Given the description of an element on the screen output the (x, y) to click on. 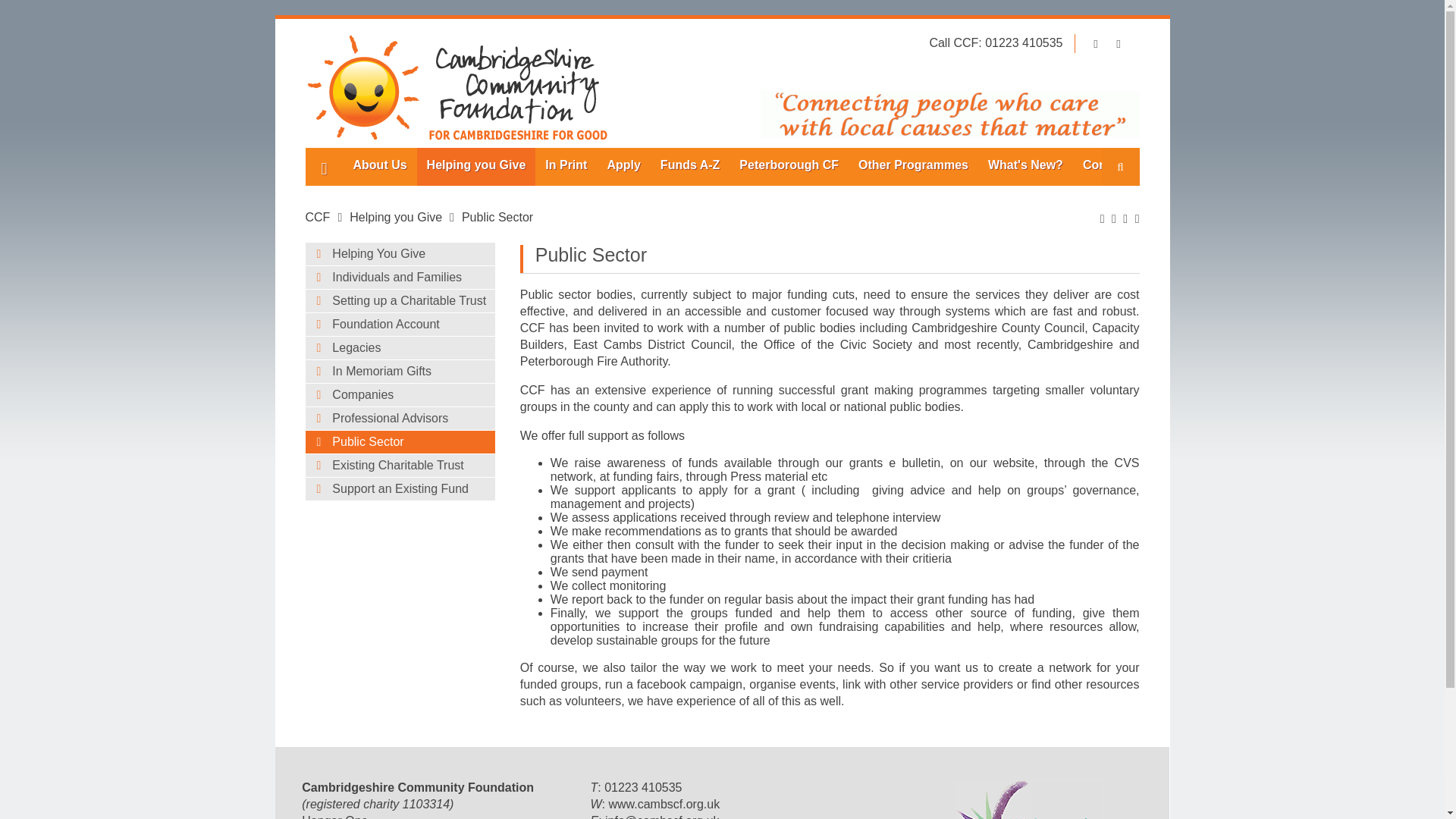
Share on Facebook (1124, 218)
Apply (622, 166)
Helping You Give (399, 253)
Search (1119, 166)
Search (1119, 166)
Funds A-Z (690, 166)
Print this page (1102, 218)
Legacies (399, 347)
Cambridgeshire Community Foundation (317, 216)
In Memoriam Gifts (399, 371)
Support an Existing Fund (399, 488)
Contact (1105, 166)
Helping you Give (395, 216)
Individuals and Families (399, 277)
Peterborough CF (788, 166)
